Given the description of an element on the screen output the (x, y) to click on. 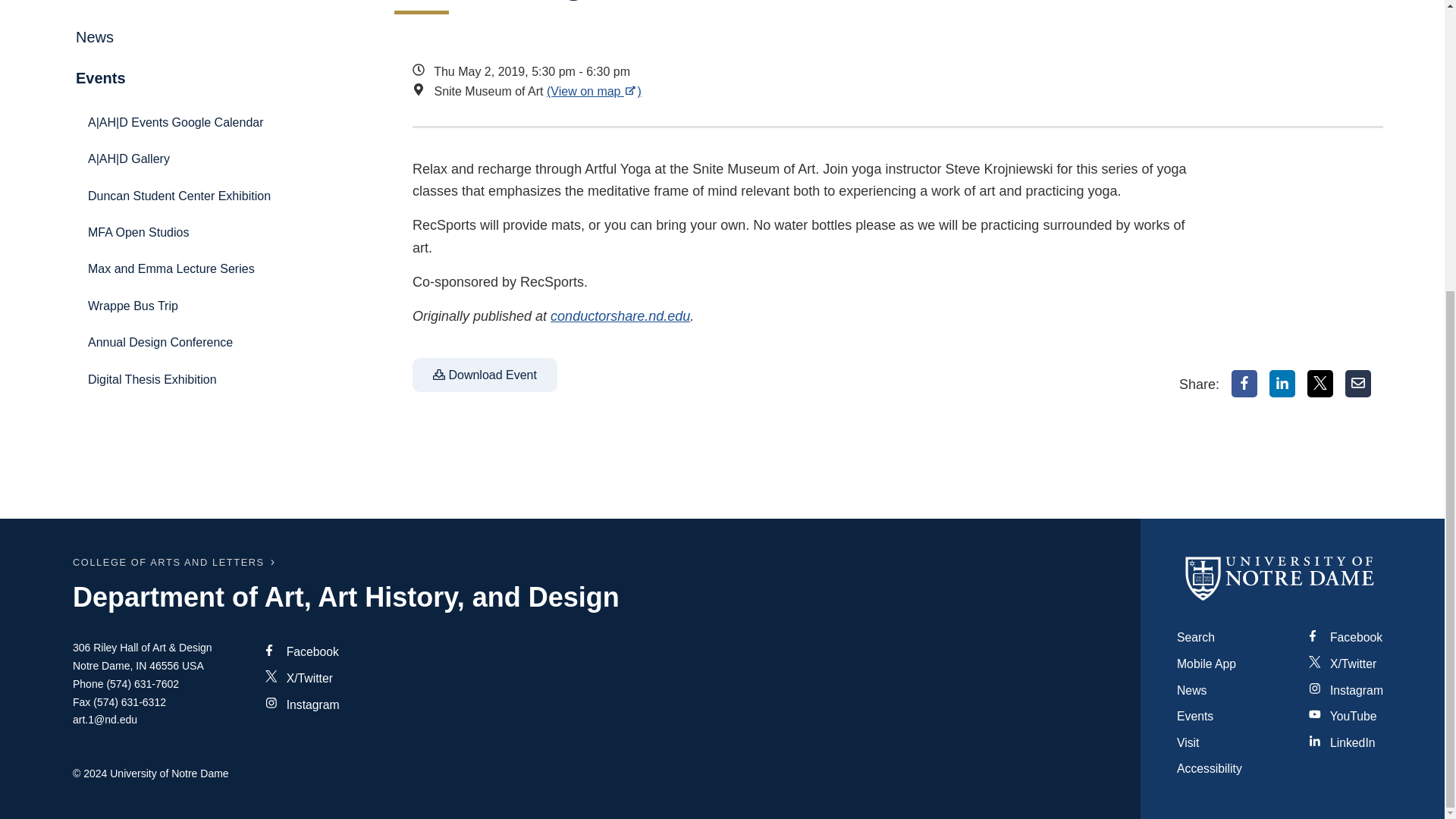
conductorshare.nd.edu (620, 315)
Thu May  2, 2019  5:30 pm -  6:30 pm (806, 71)
LinkedIn (1282, 383)
Facebook (1244, 383)
Email (1358, 383)
